Given the description of an element on the screen output the (x, y) to click on. 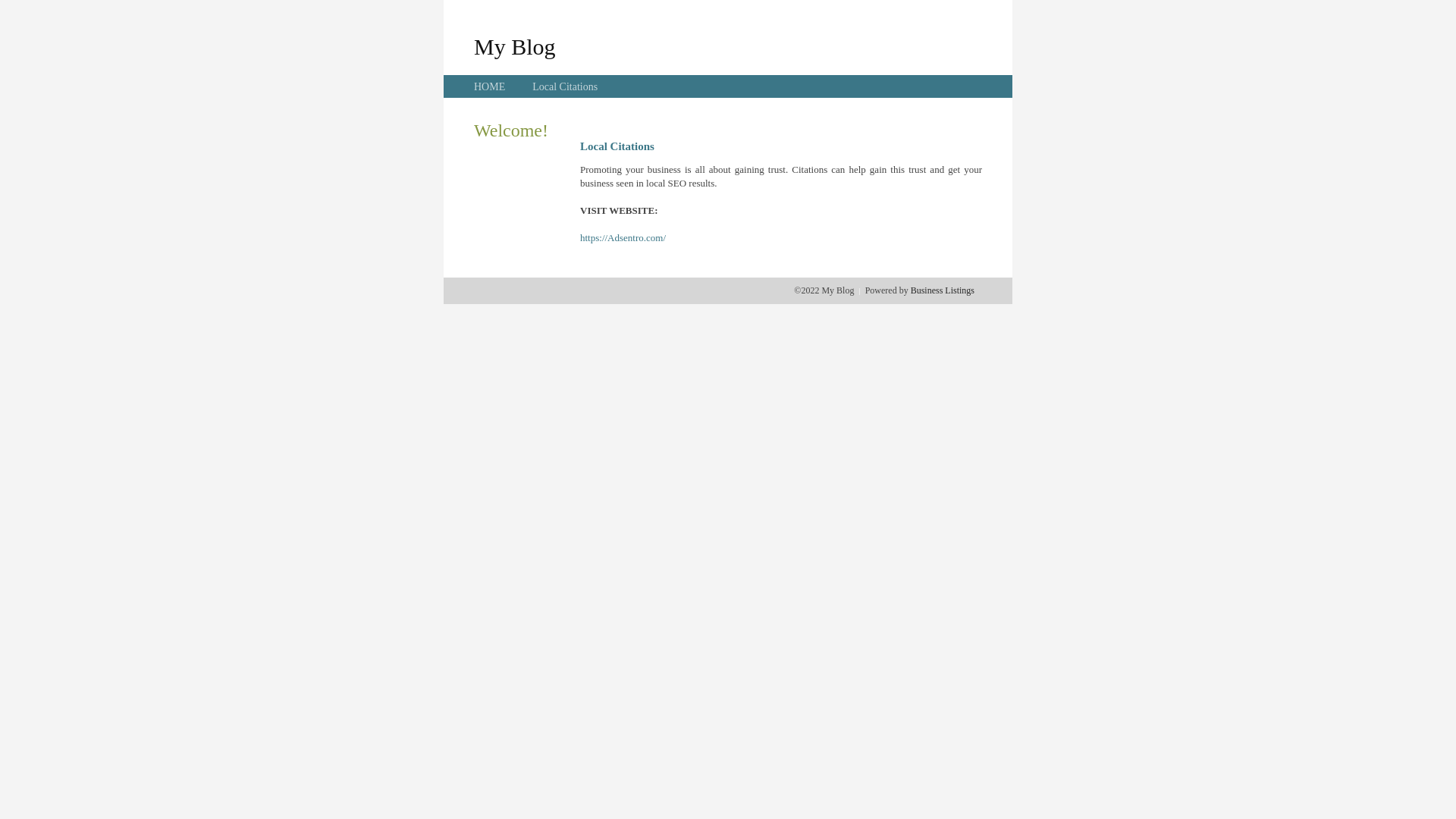
My Blog Element type: text (514, 46)
Business Listings Element type: text (942, 290)
https://Adsentro.com/ Element type: text (622, 237)
Local Citations Element type: text (564, 86)
HOME Element type: text (489, 86)
